Given the description of an element on the screen output the (x, y) to click on. 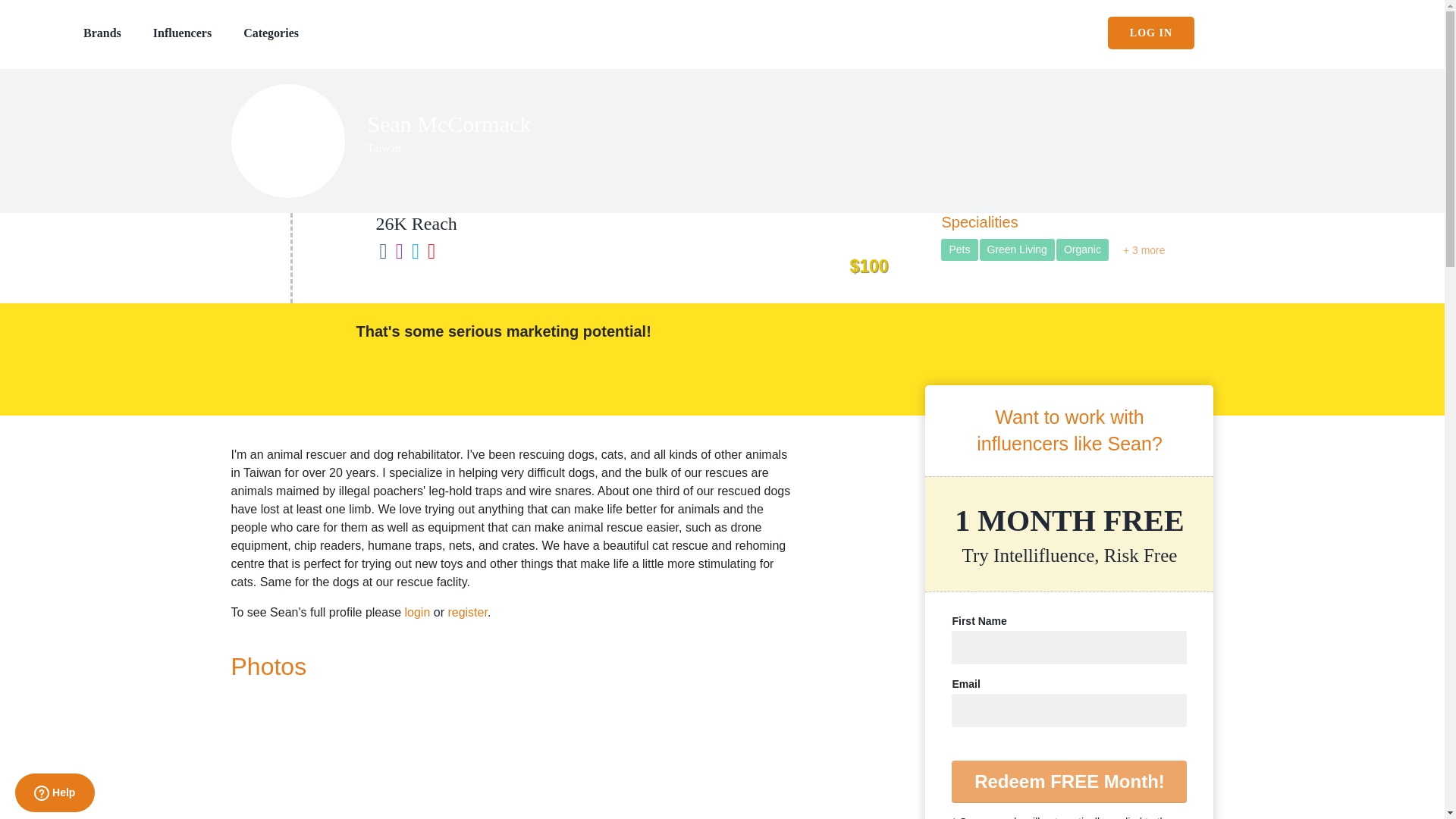
Influencers (181, 31)
Pets (958, 250)
Redeem FREE Month! (1069, 781)
register (466, 612)
Green Living (1016, 250)
LOG IN (1150, 31)
login (416, 612)
Organic (1082, 250)
